Given the description of an element on the screen output the (x, y) to click on. 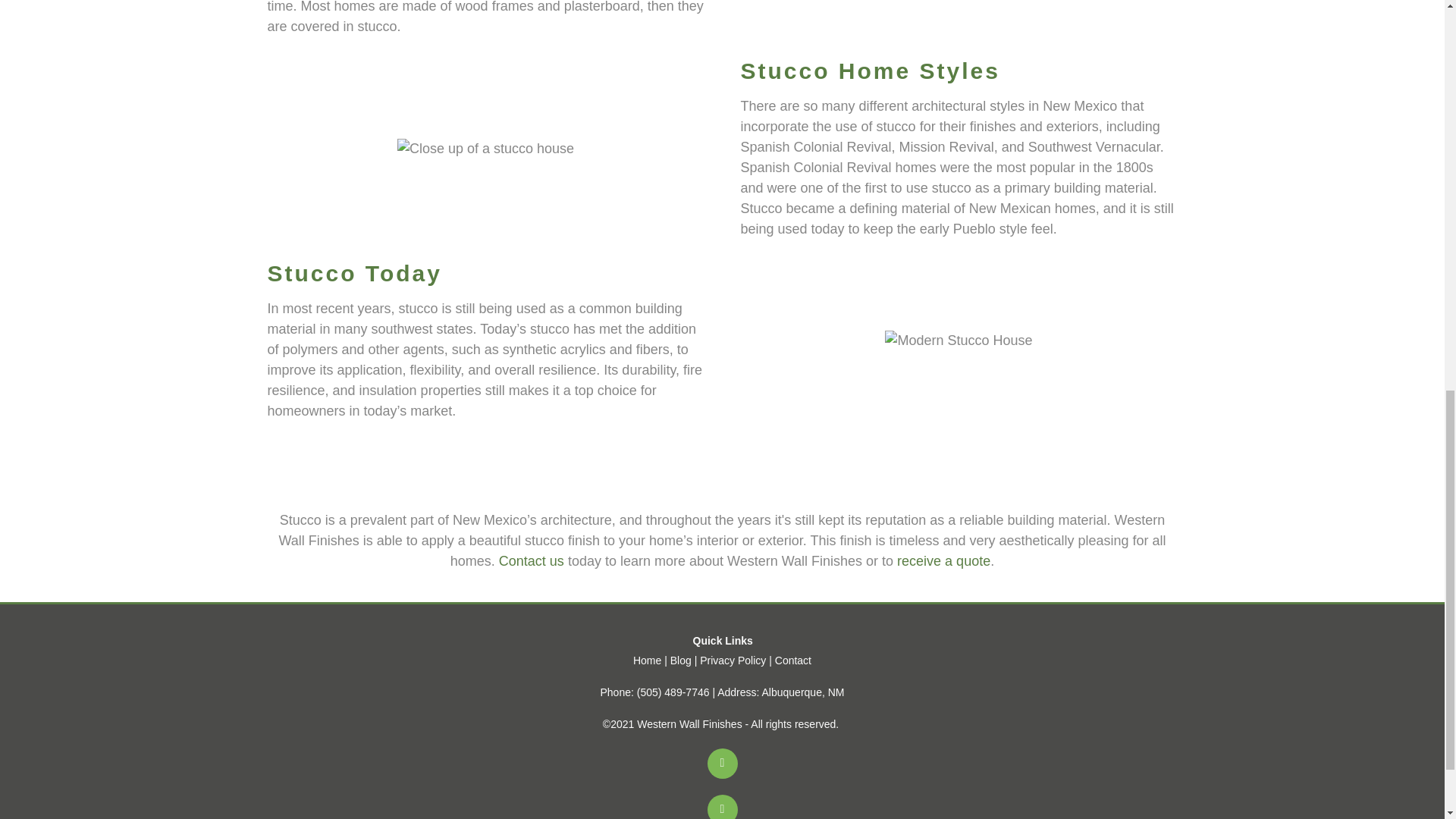
Contact (792, 660)
Blog (680, 660)
Privacy Policy (732, 660)
Close up of a stucco house (485, 148)
Home (647, 660)
Albuquerque, NM (802, 692)
Modern Stucco House (958, 340)
Contact us (531, 560)
receive a quote (943, 560)
